Given the description of an element on the screen output the (x, y) to click on. 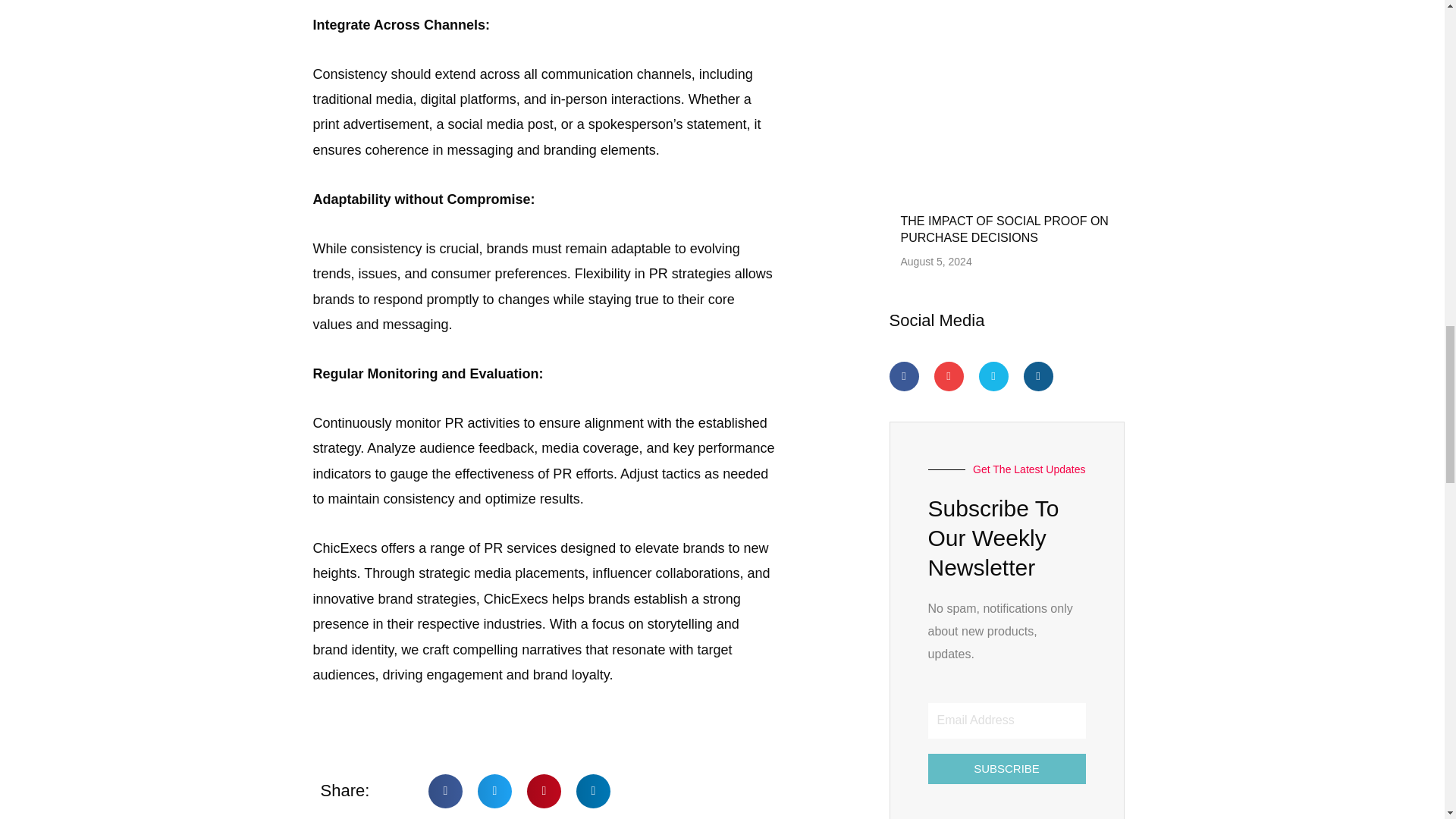
THE IMPACT OF SOCIAL PROOF ON PURCHASE DECISIONS (1004, 229)
Instagram (1037, 376)
SUBSCRIBE (1007, 768)
Facebook-f (903, 376)
Twitter (992, 376)
Youtube (948, 376)
